Given the description of an element on the screen output the (x, y) to click on. 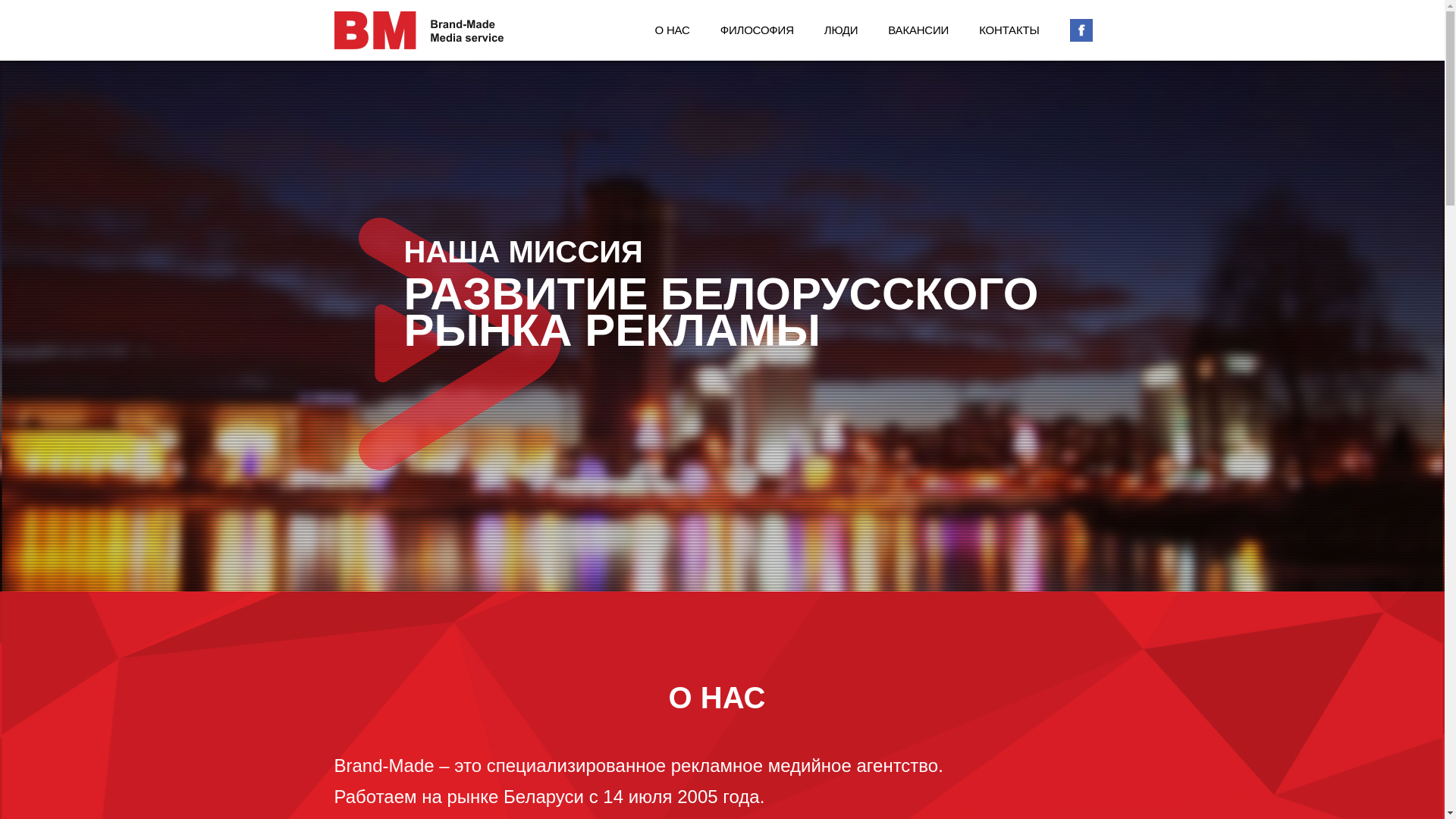
Brand-Made Element type: hover (444, 29)
Brand-Made Element type: hover (1080, 30)
